Given the description of an element on the screen output the (x, y) to click on. 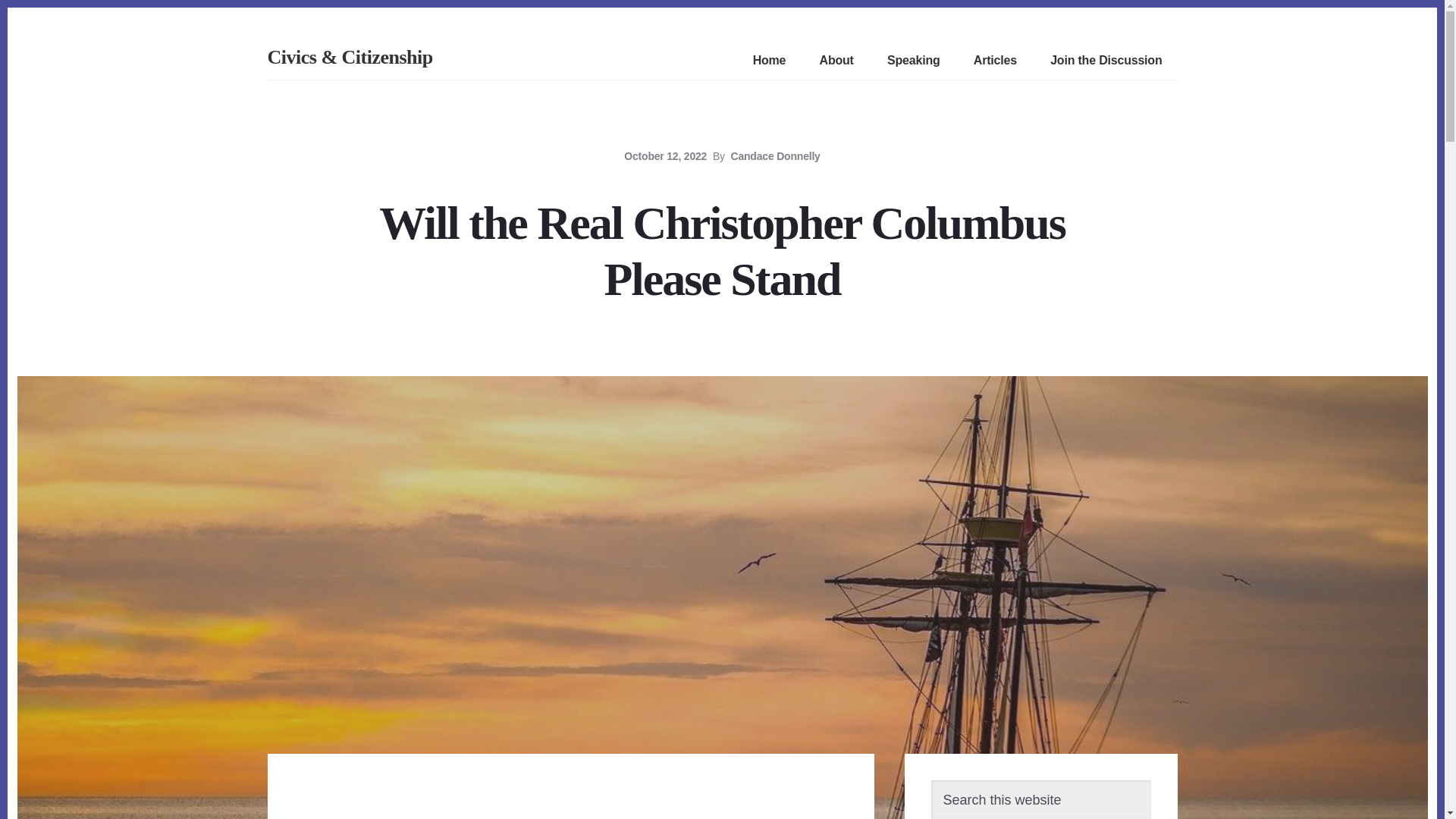
Articles (995, 61)
Home (769, 61)
Candace Donnelly (776, 155)
Speaking (913, 61)
About (836, 61)
Join the Discussion (1105, 61)
